Given the description of an element on the screen output the (x, y) to click on. 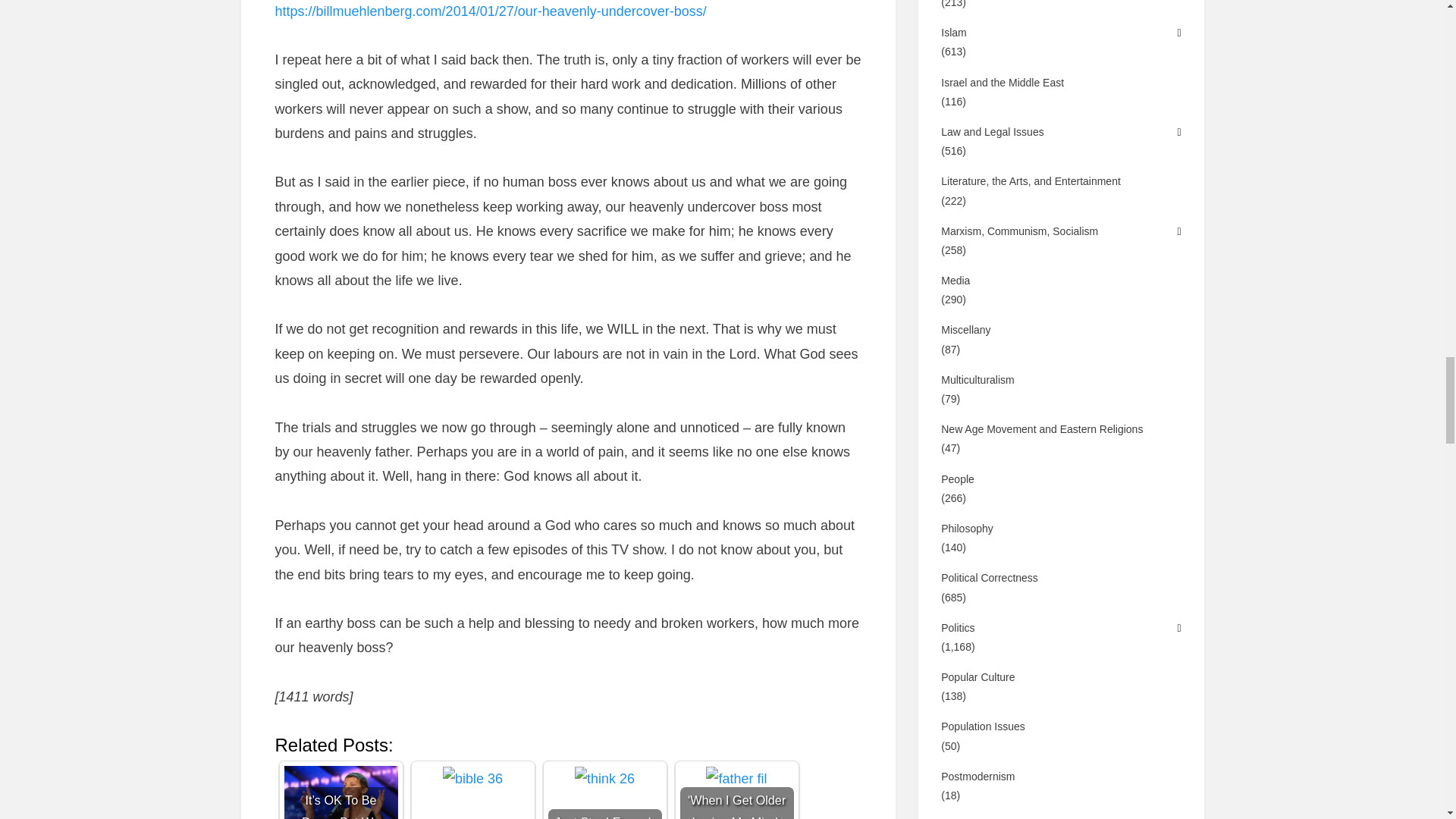
Just Stop! Enough of the Genetic Fallacy (604, 792)
Just Stop! Enough of the Genetic Fallacy (604, 778)
On Two-Speed Scripture Reading (472, 778)
On Two-Speed Scripture Reading (471, 792)
